Given the description of an element on the screen output the (x, y) to click on. 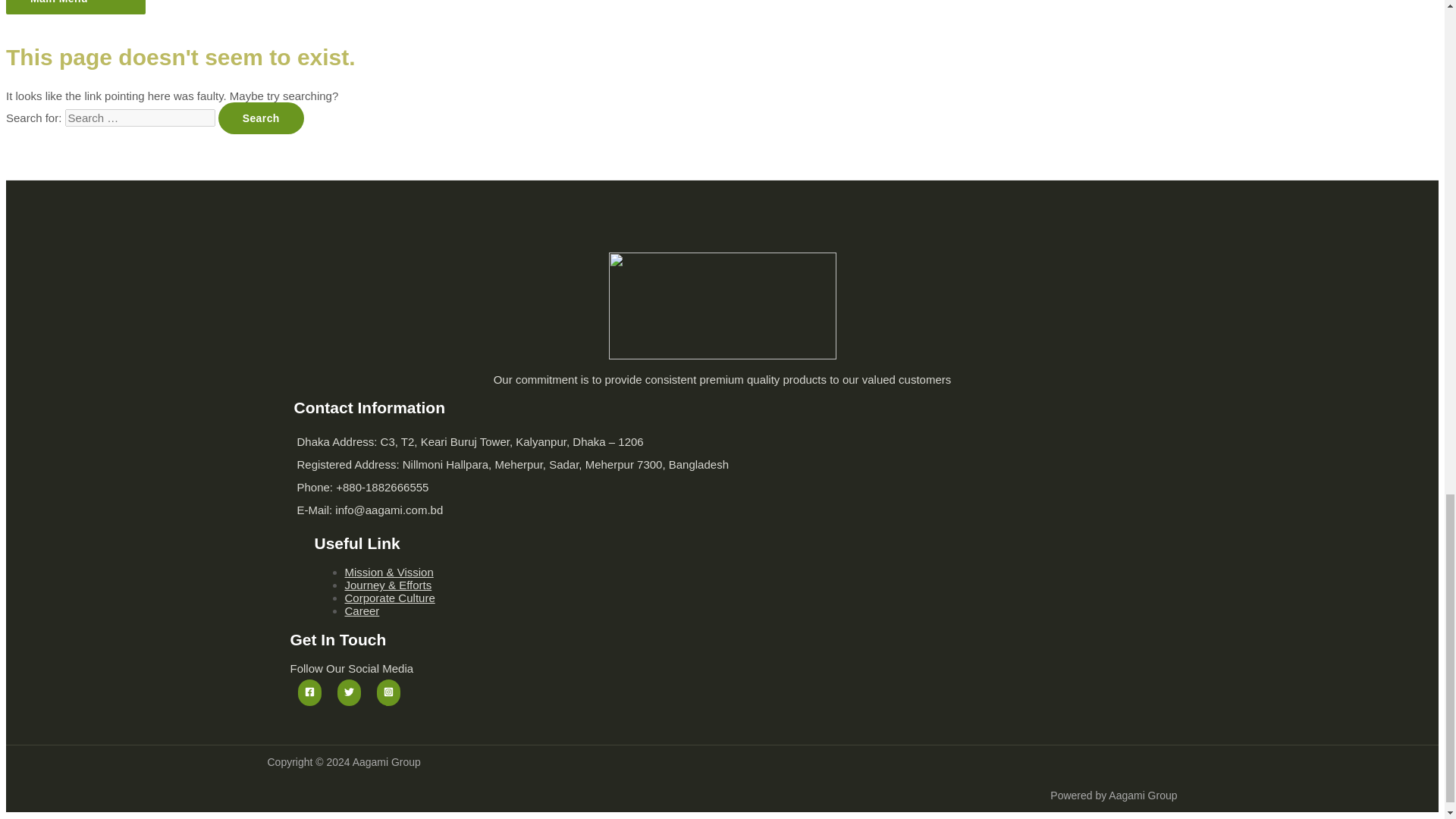
Search (261, 118)
Search (261, 118)
Main Menu (75, 7)
